Given the description of an element on the screen output the (x, y) to click on. 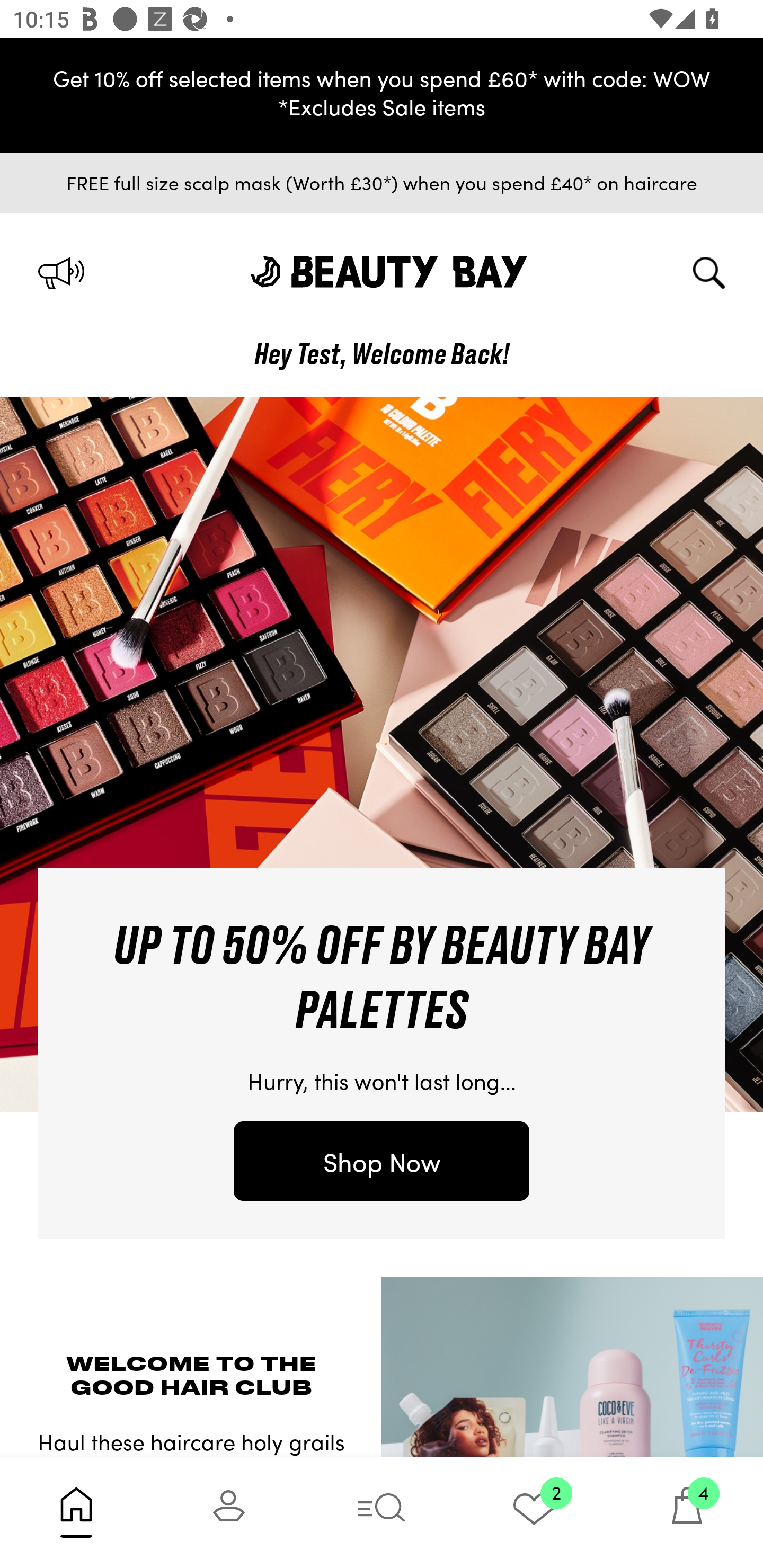
2 (533, 1512)
4 (686, 1512)
